Given the description of an element on the screen output the (x, y) to click on. 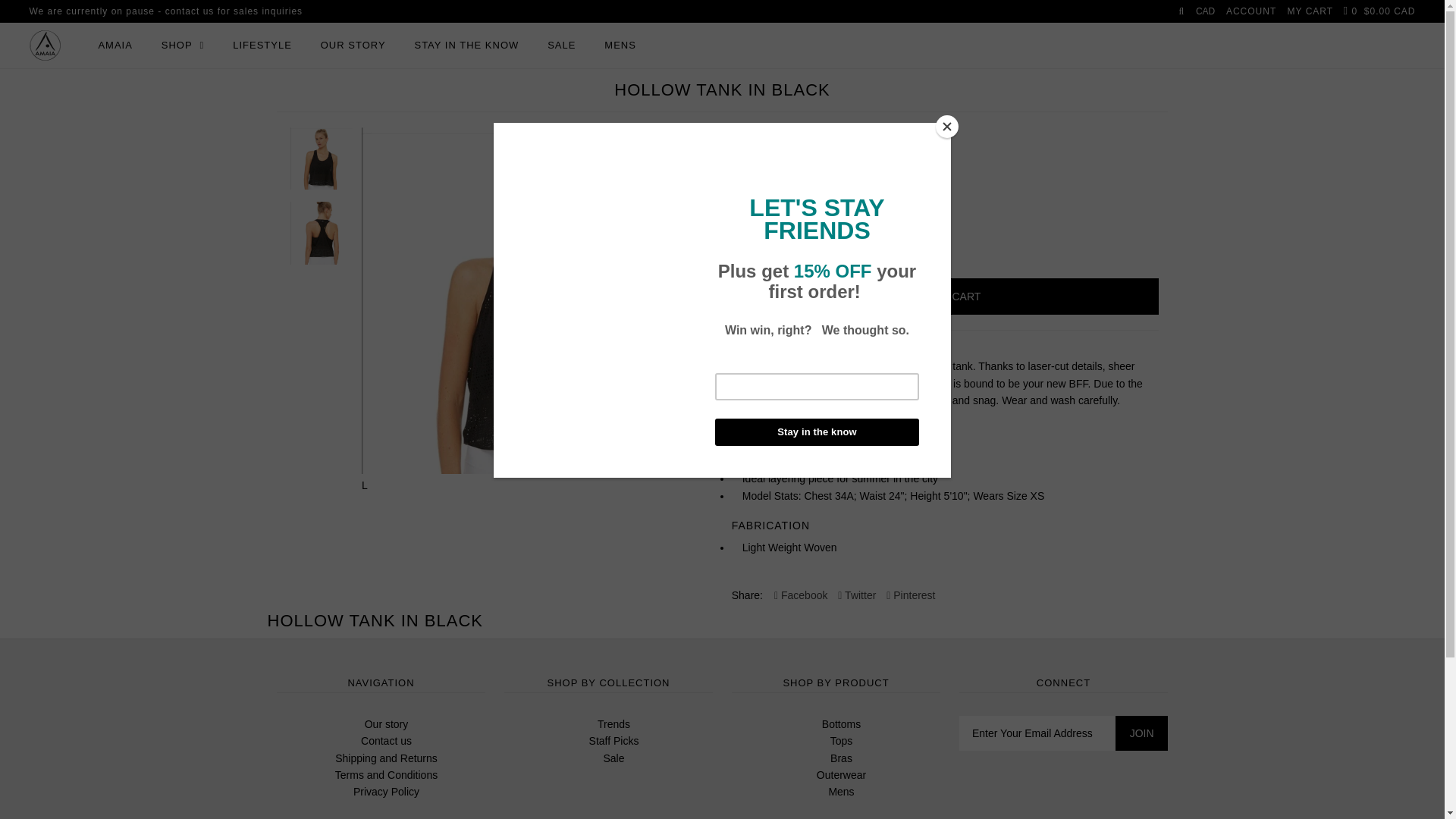
Privacy Policy Element type: text (386, 791)
Twitter Element type: text (856, 594)
Bottoms Element type: text (841, 724)
Our story Element type: text (386, 724)
AMAIA Element type: text (114, 45)
Outerwear Element type: text (841, 774)
MY CART   0  $0.00 CAD Element type: text (1351, 11)
Pinterest Element type: text (910, 594)
ACCOUNT Element type: text (1251, 11)
Terms and Conditions Element type: text (386, 774)
SHOP Element type: text (182, 45)
Staff Picks Element type: text (614, 740)
Shipping and Returns Element type: text (386, 758)
LIFESTYLE Element type: text (262, 45)
STAY IN THE KNOW Element type: text (466, 45)
Trends Element type: text (613, 724)
Tops Element type: text (841, 740)
Sale Element type: text (613, 758)
OUR STORY Element type: text (353, 45)
Join Element type: text (1141, 732)
MENS Element type: text (619, 45)
Mens Element type: text (840, 791)
Facebook Element type: text (801, 594)
SALE Element type: text (561, 45)
Add to Cart Element type: text (944, 296)
Bras Element type: text (841, 758)
Contact us Element type: text (385, 740)
Hollow Tank in black Element type: hover (534, 300)
